Given the description of an element on the screen output the (x, y) to click on. 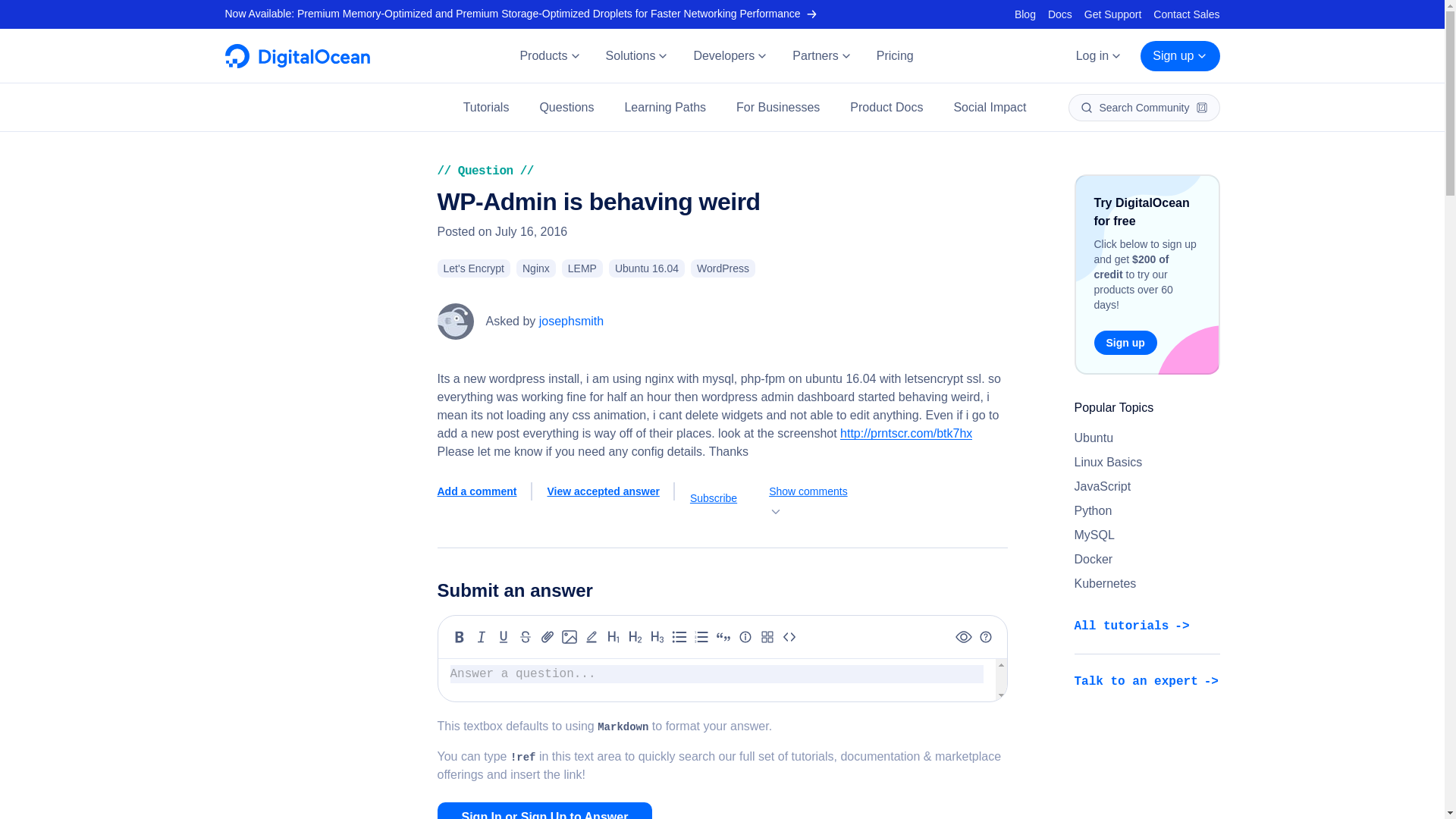
Highlight (590, 637)
Strikethrough (524, 637)
Link (547, 637)
Nginx (536, 268)
Get Support (1112, 14)
WordPress (722, 268)
DigitalOcean (296, 63)
Blog (1024, 14)
Bold (458, 637)
Docs (1059, 14)
